Given the description of an element on the screen output the (x, y) to click on. 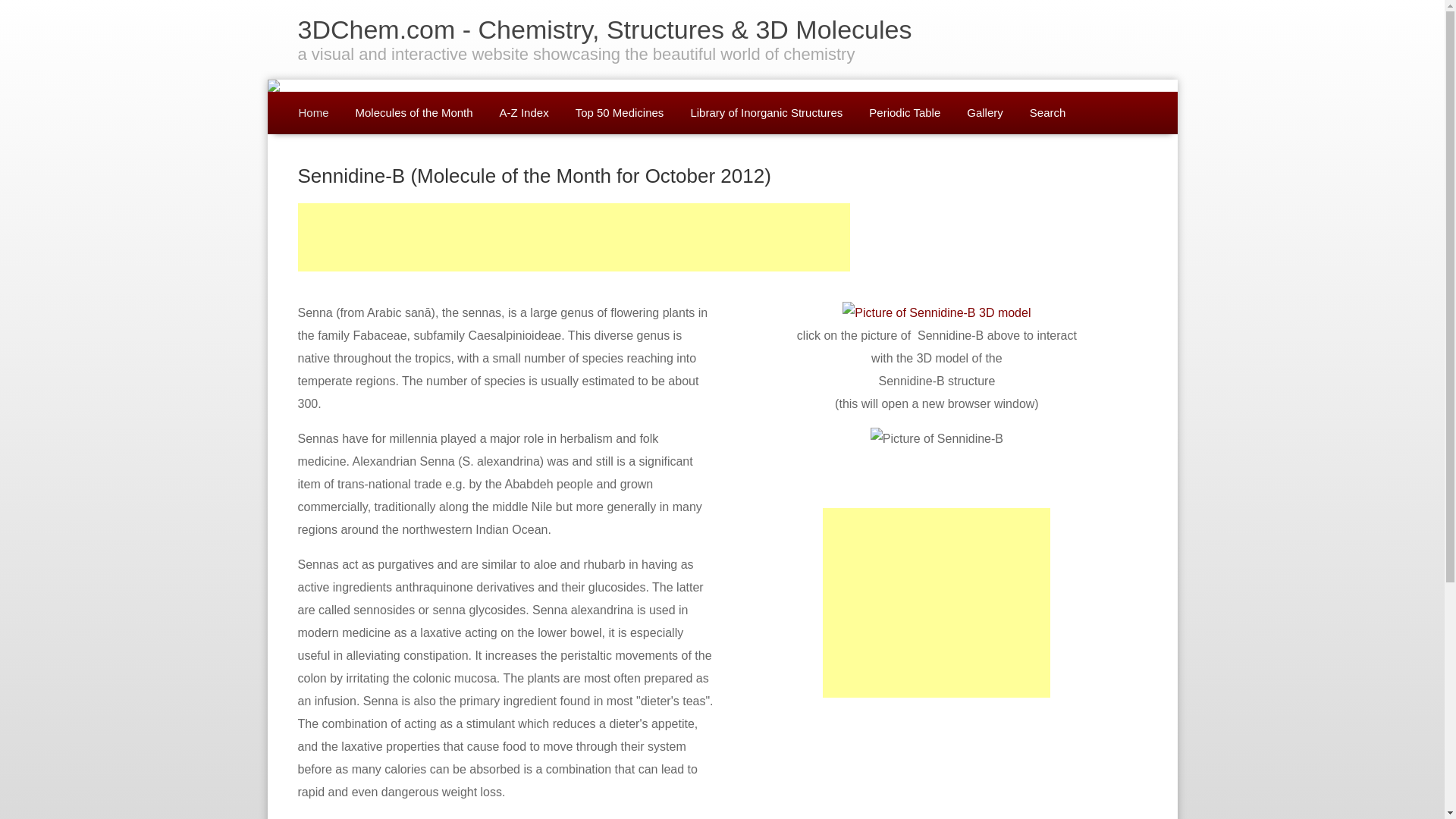
A-Z Index (519, 112)
Gallery (980, 112)
Advertisement (572, 237)
Advertisement (842, 768)
Periodic Table (900, 112)
Library of Inorganic Structures (762, 112)
Top 50 Medicines (614, 112)
Search (1042, 112)
Molecules of the Month (409, 112)
Home (309, 112)
